Given the description of an element on the screen output the (x, y) to click on. 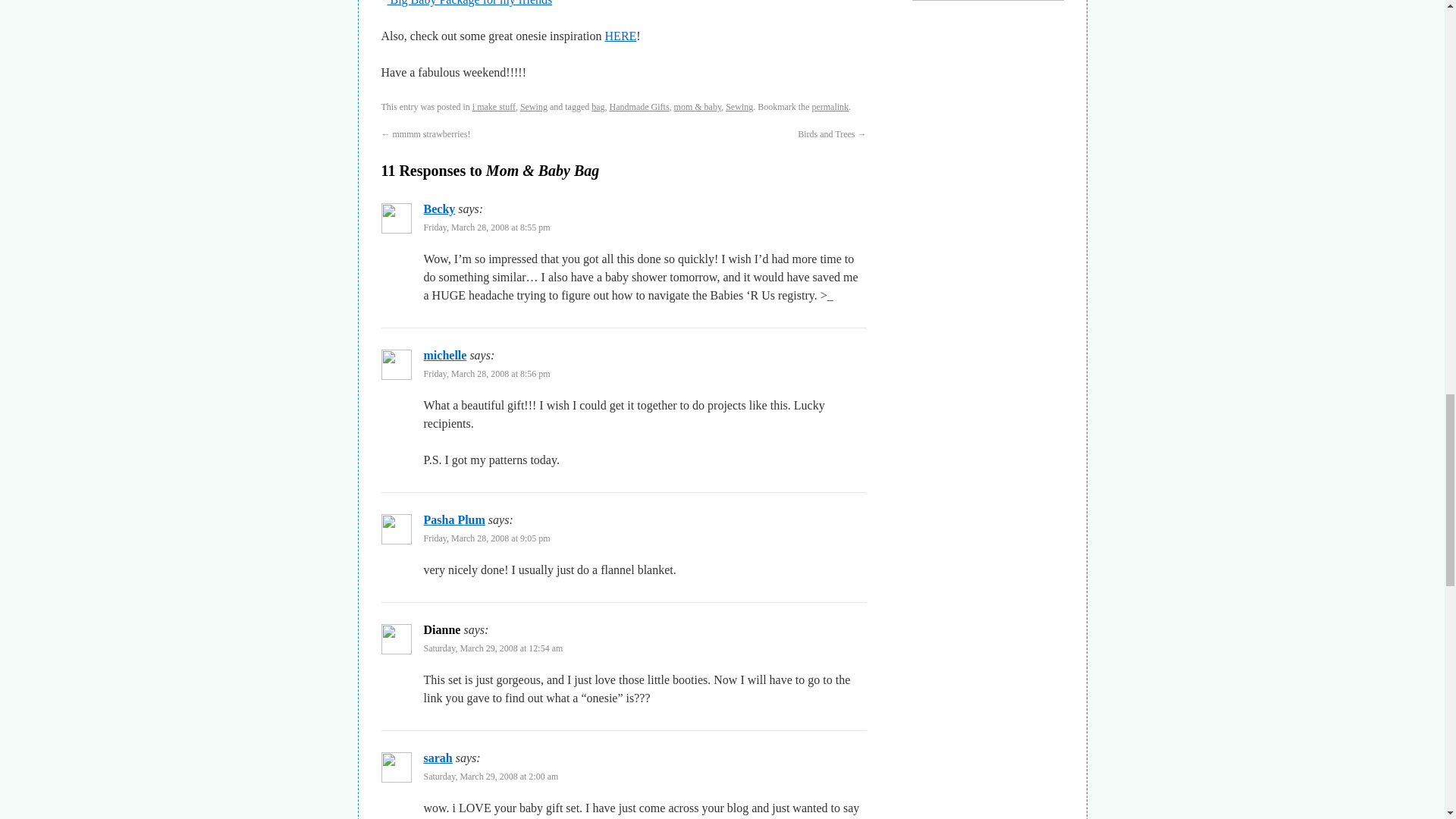
Handmade Gifts (639, 106)
Sewing (738, 106)
Sewing (533, 106)
Friday, March 28, 2008 at 8:56 pm (486, 373)
Permanent Link: Big Baby Package for my friends (469, 2)
bag (597, 106)
permalink (829, 106)
Big Baby Package for my friends (469, 2)
i make stuff (493, 106)
HERE (621, 35)
michelle (444, 354)
Becky (438, 208)
Pasha Plum (453, 519)
Friday, March 28, 2008 at 9:05 pm (486, 538)
Friday, March 28, 2008 at 8:55 pm (486, 226)
